Given the description of an element on the screen output the (x, y) to click on. 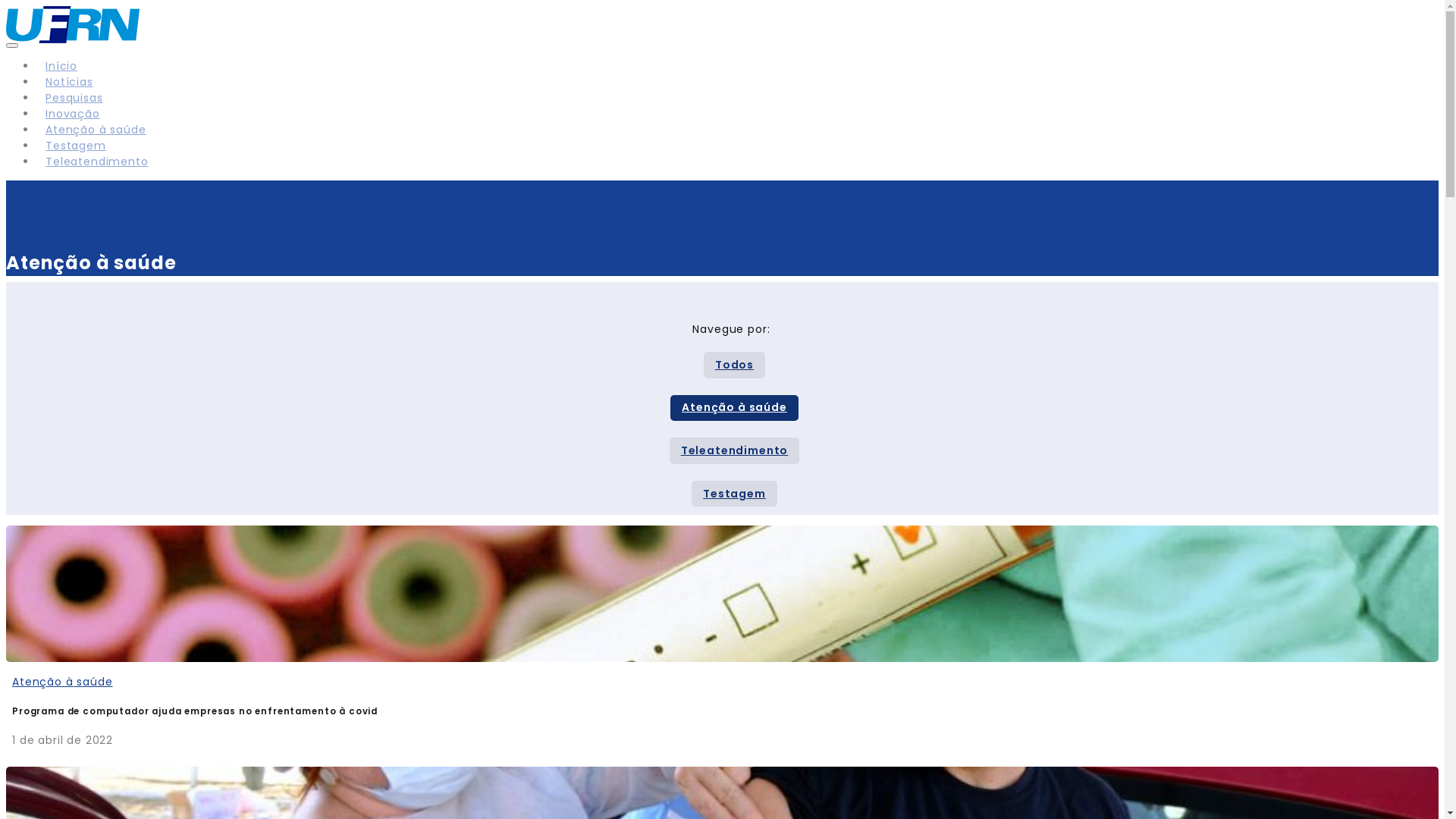
Pesquisas Element type: text (74, 97)
Testagem Element type: text (734, 493)
Teleatendimento Element type: text (96, 161)
Testagem Element type: text (75, 145)
Teleatendimento Element type: text (734, 450)
Todos Element type: text (734, 364)
